Given the description of an element on the screen output the (x, y) to click on. 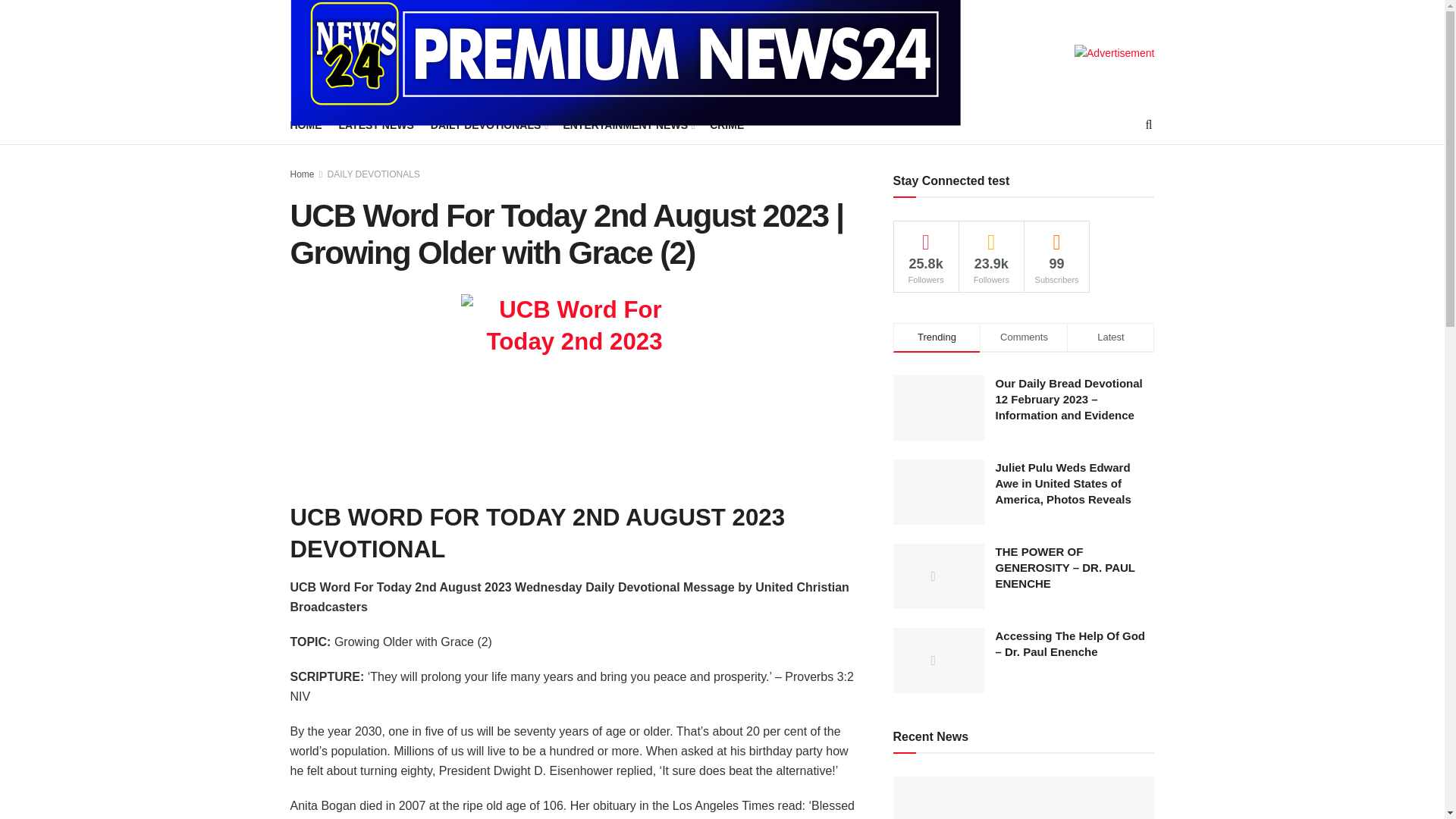
LATEST NEWS (375, 124)
DAILY DEVOTIONALS (373, 173)
Home (301, 173)
HOME (1056, 256)
DAILY DEVOTIONALS (305, 124)
CRIME (488, 124)
ENTERTAINMENT NEWS (727, 124)
